Given the description of an element on the screen output the (x, y) to click on. 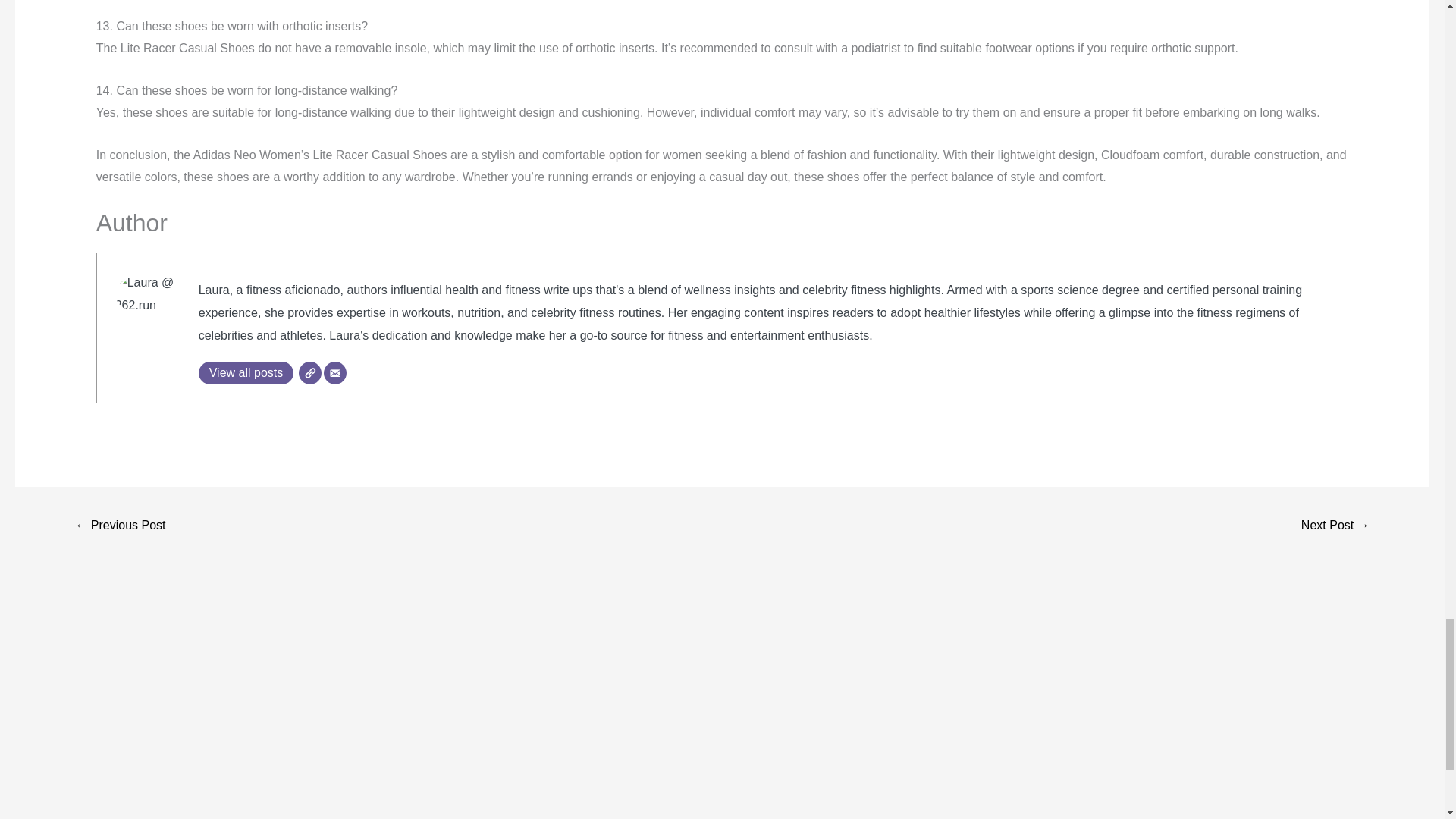
What Incline On Treadmill To Simulate Outdoor Running (1334, 526)
Me Dan Calambres En La Planta Del Pie (119, 526)
View all posts (246, 372)
View all posts (246, 372)
